Given the description of an element on the screen output the (x, y) to click on. 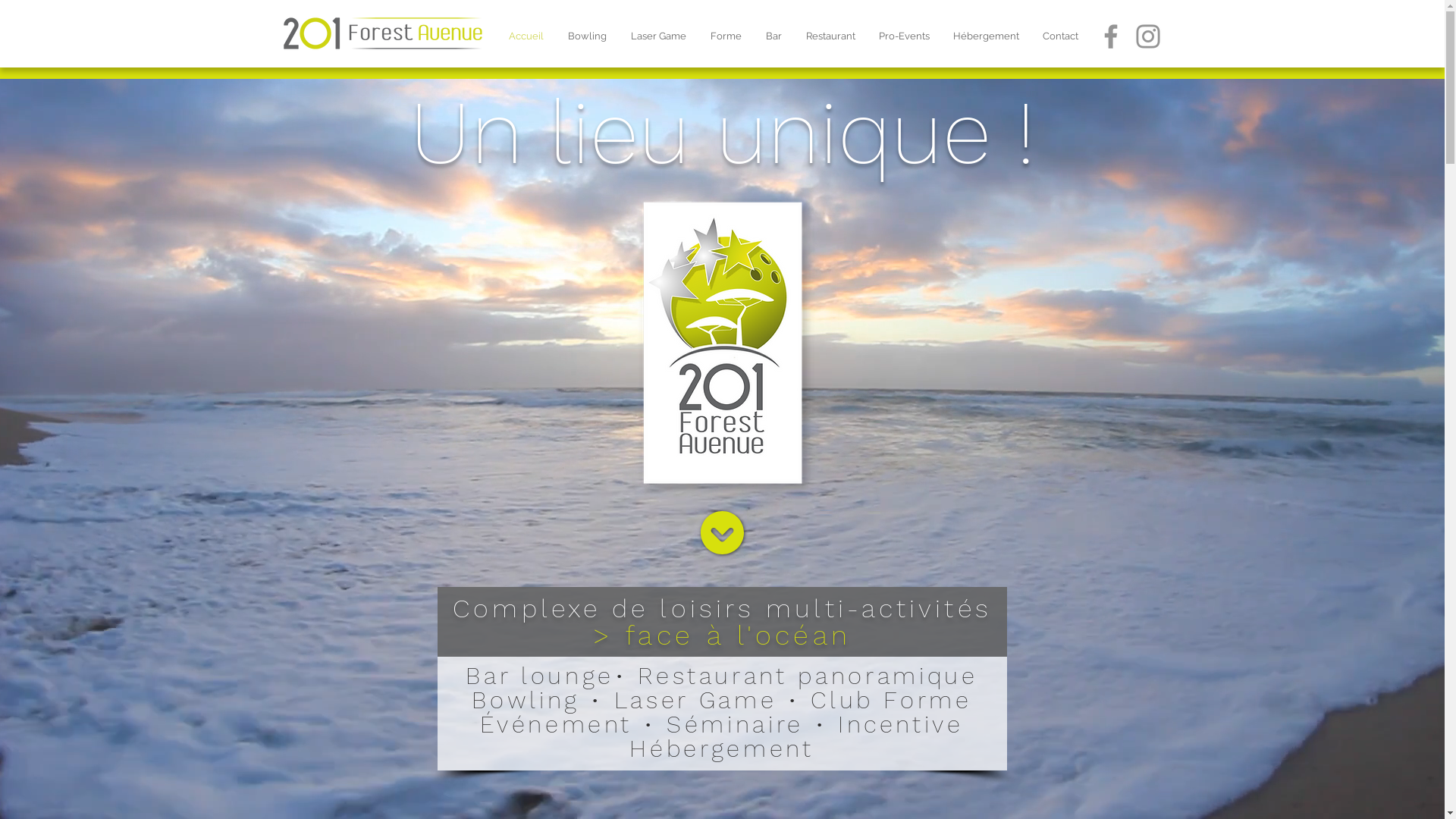
Forme Element type: text (725, 36)
Bar Element type: text (773, 36)
Restaurant Element type: text (829, 36)
Laser Game Element type: text (658, 36)
Accueil Element type: text (525, 36)
Pro-Events Element type: text (904, 36)
Contact Element type: text (1060, 36)
Bowling Element type: text (586, 36)
